Given the description of an element on the screen output the (x, y) to click on. 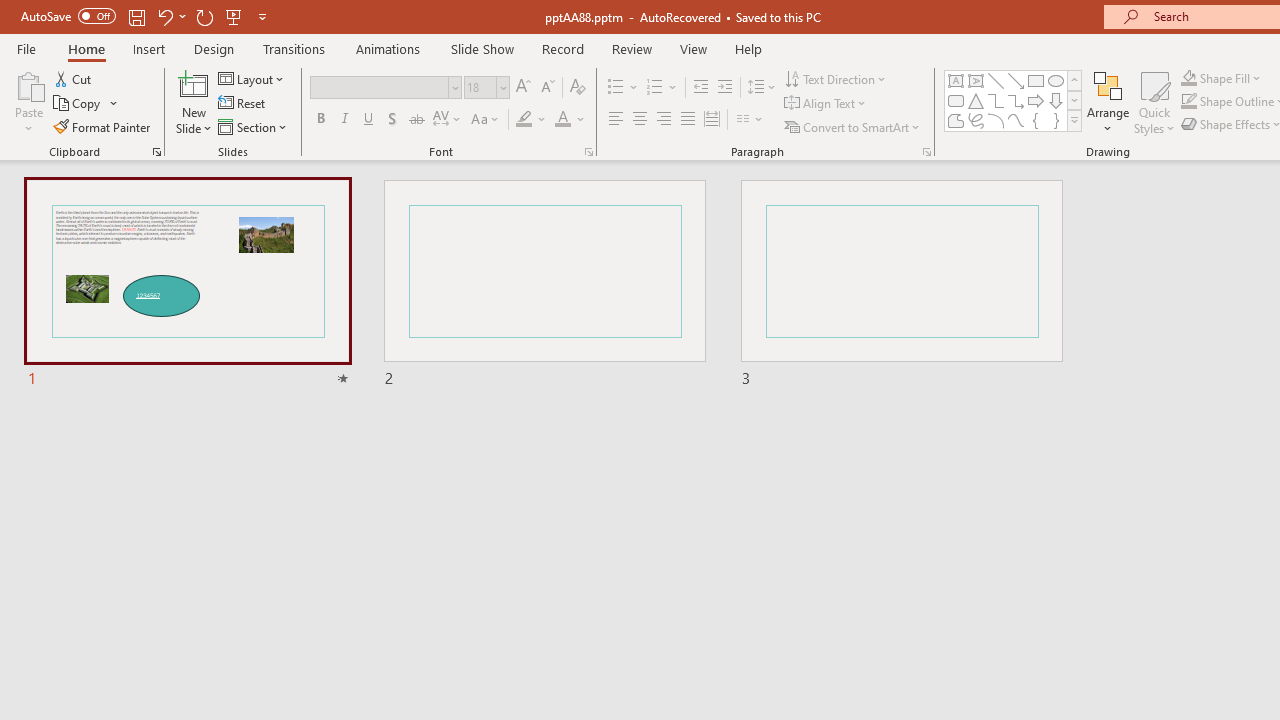
Shape Fill Aqua, Accent 2 (1188, 78)
